Given the description of an element on the screen output the (x, y) to click on. 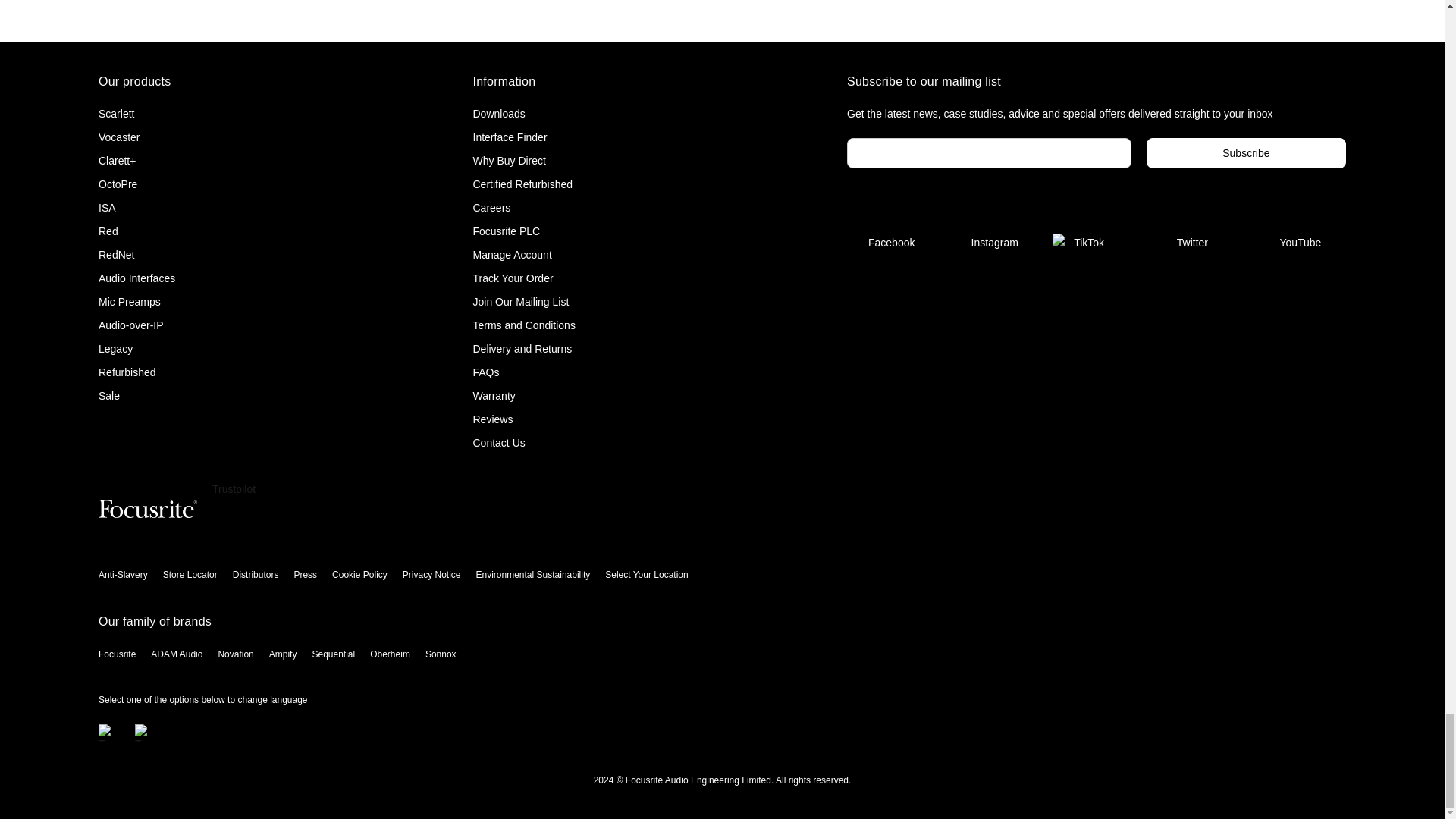
Subscribe (1246, 153)
